Given the description of an element on the screen output the (x, y) to click on. 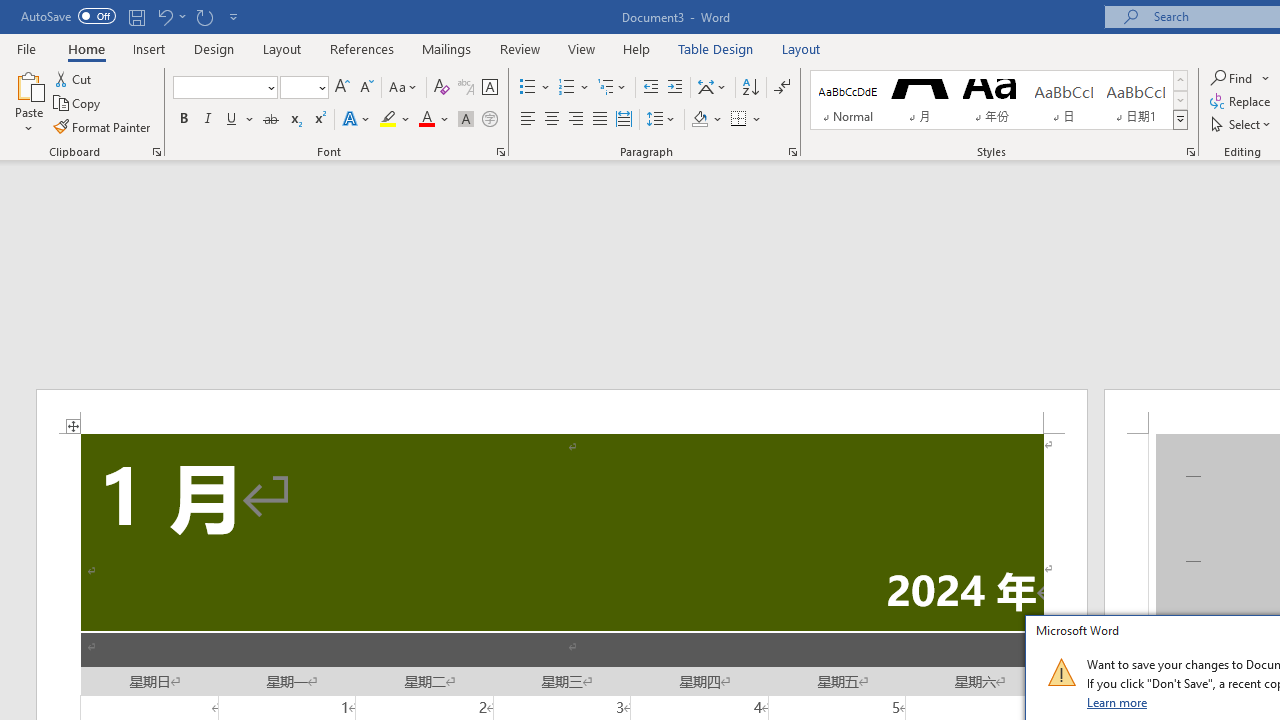
Shading RGB(0, 0, 0) (699, 119)
Phonetic Guide... (465, 87)
Paste (28, 102)
Numbering (573, 87)
Layout (801, 48)
Class: NetUIImage (1061, 671)
Font... (500, 151)
Character Shading (465, 119)
Enclose Characters... (489, 119)
Header -Section 1- (561, 411)
Strikethrough (270, 119)
Align Left (527, 119)
Show/Hide Editing Marks (781, 87)
Decrease Indent (650, 87)
